Given the description of an element on the screen output the (x, y) to click on. 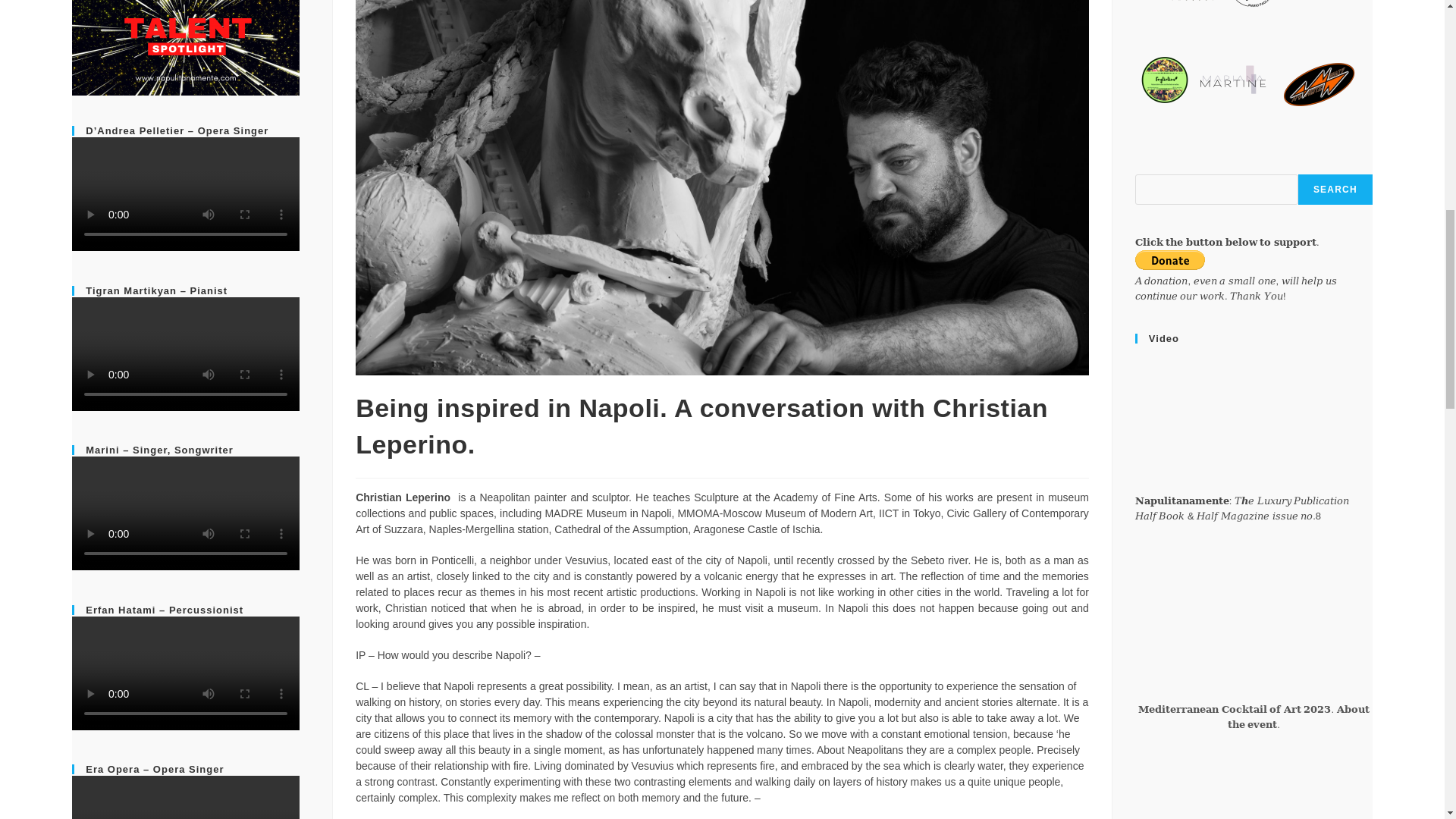
NapulitanaMente magazine issue no.8 (1254, 411)
NapulitanaMente (1254, 790)
Mediterranean Cocktail of Art (1254, 620)
PayPal - The safer, easier way to pay online! (1170, 260)
